Given the description of an element on the screen output the (x, y) to click on. 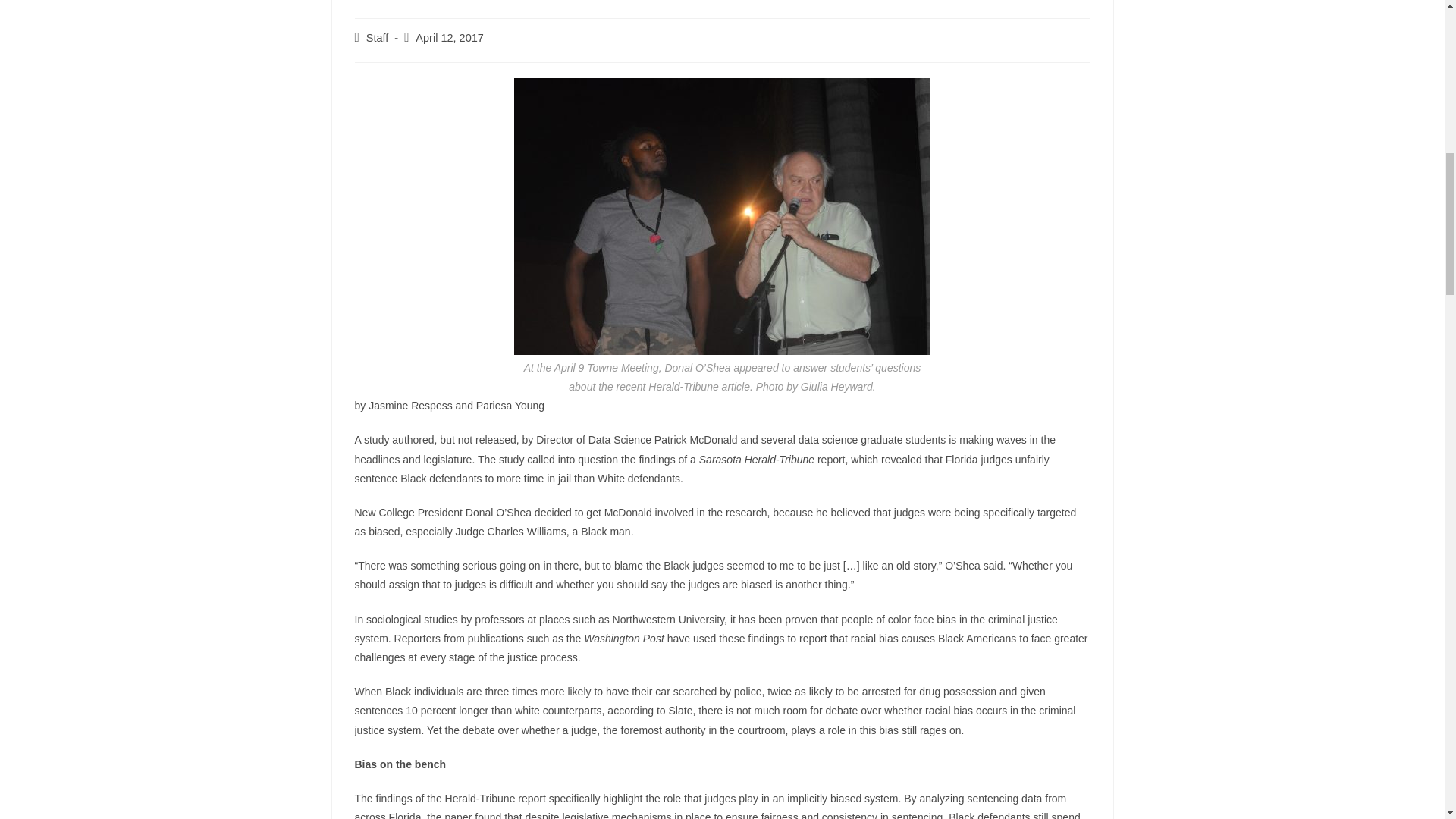
Posts by Staff (377, 37)
Staff (377, 37)
